Given the description of an element on the screen output the (x, y) to click on. 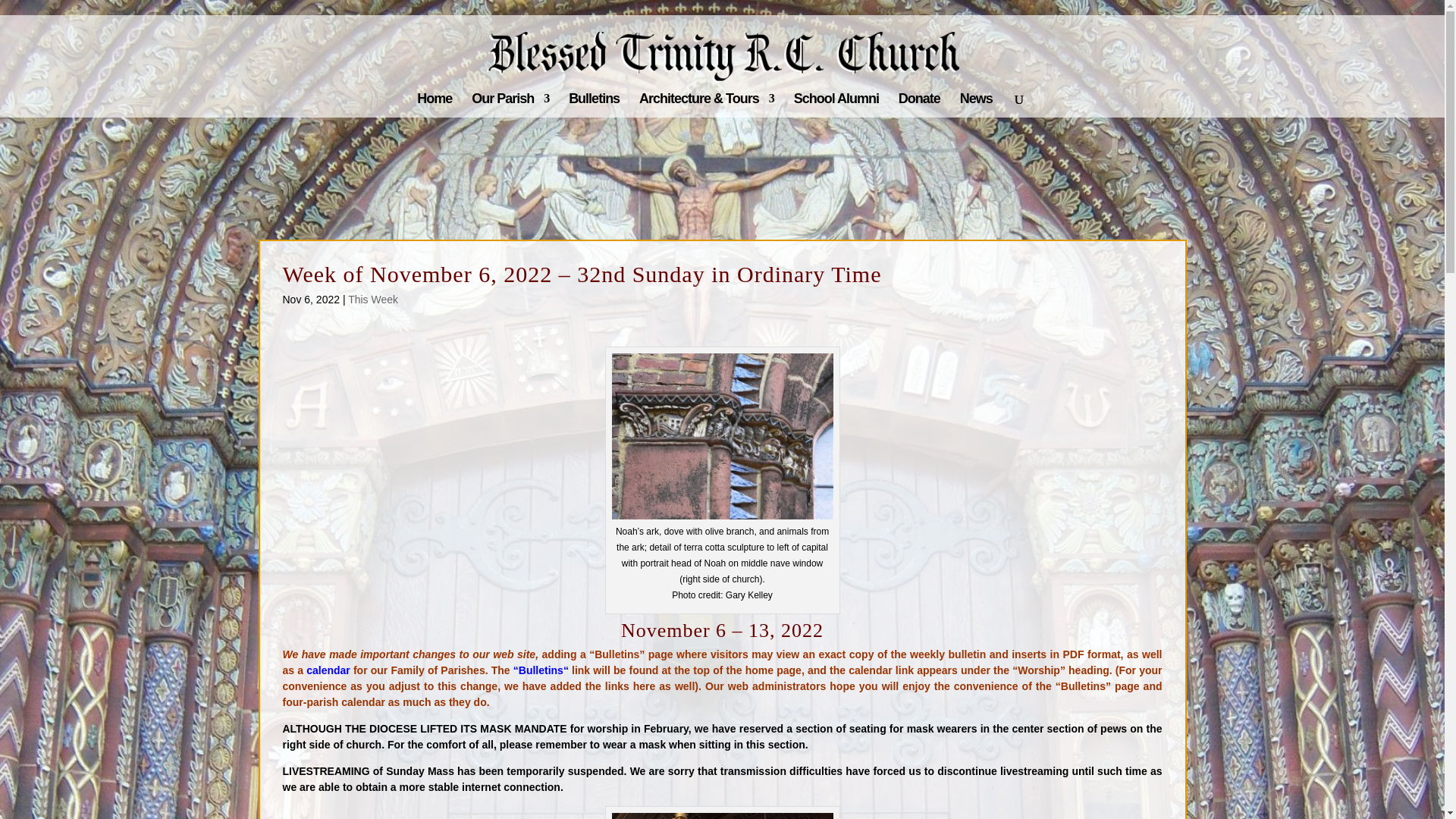
School Alumni (836, 105)
calendar (327, 670)
This Week (372, 299)
Bulletins (540, 670)
Home (433, 105)
News (975, 105)
Bulletins (594, 105)
Our Parish (509, 105)
Donate (919, 105)
